Given the description of an element on the screen output the (x, y) to click on. 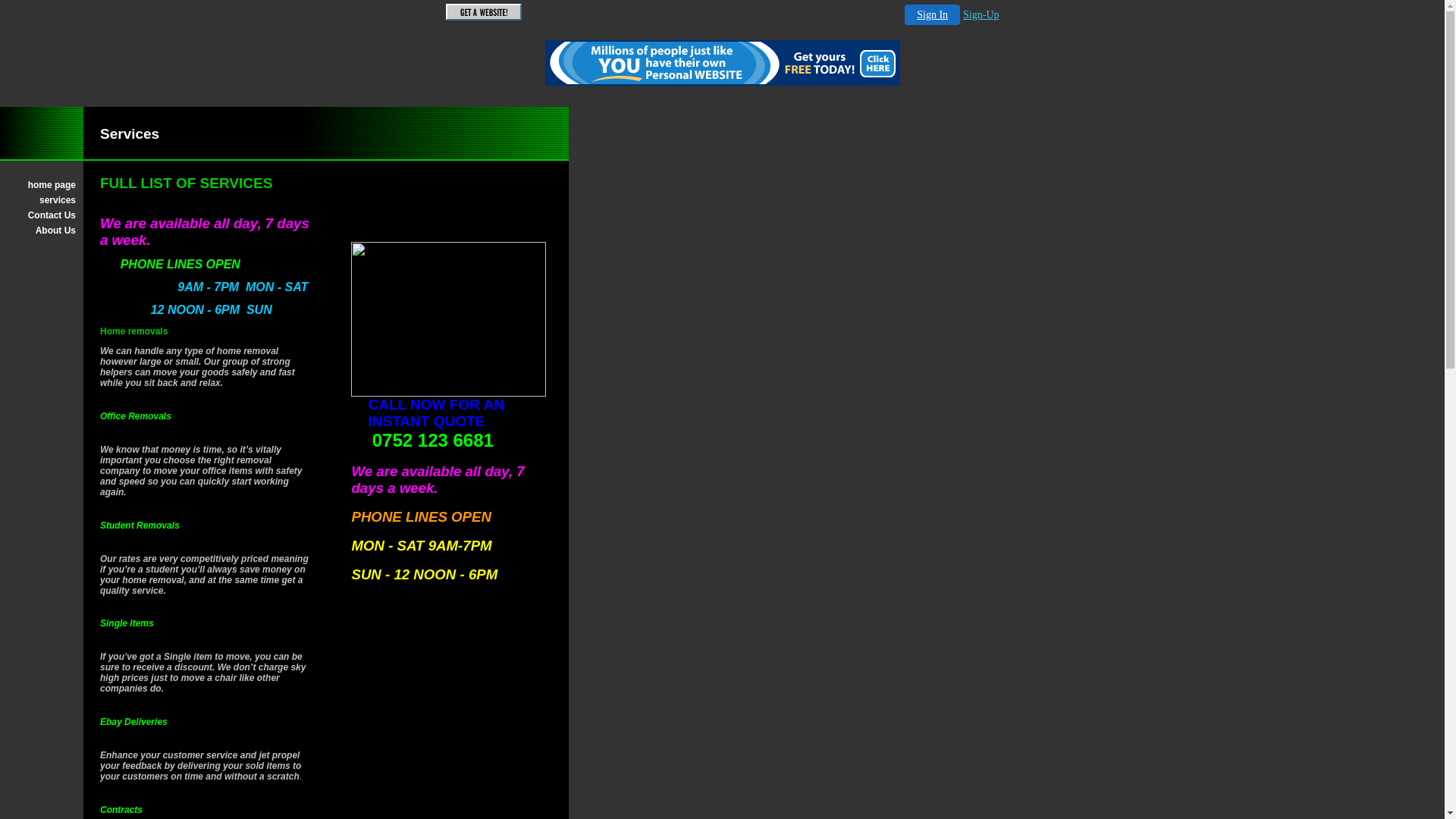
Contact Us Element type: text (41, 214)
home page Element type: text (41, 184)
services Element type: text (41, 199)
About Us Element type: text (41, 230)
Sign-Up Element type: text (980, 14)
Sign In Element type: text (932, 14)
